Given the description of an element on the screen output the (x, y) to click on. 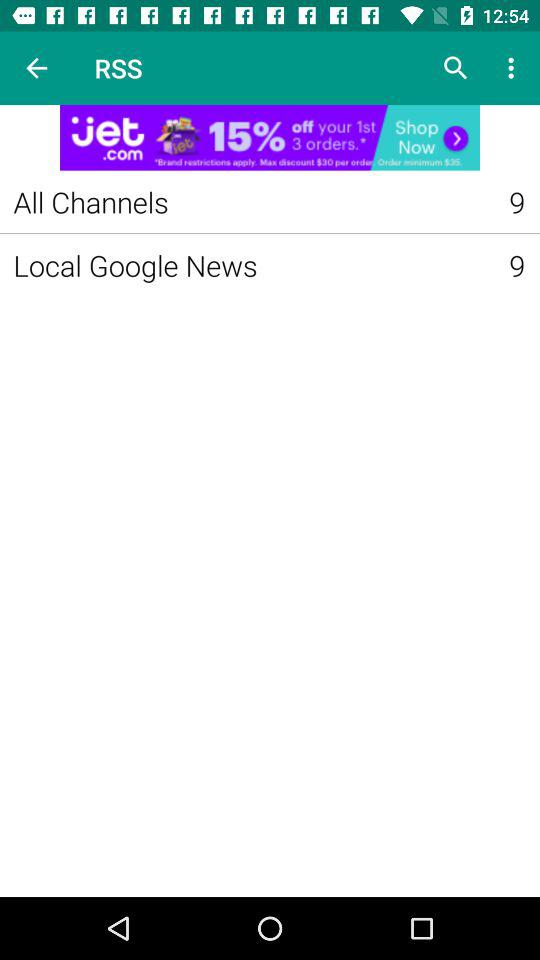
share the article (270, 137)
